Given the description of an element on the screen output the (x, y) to click on. 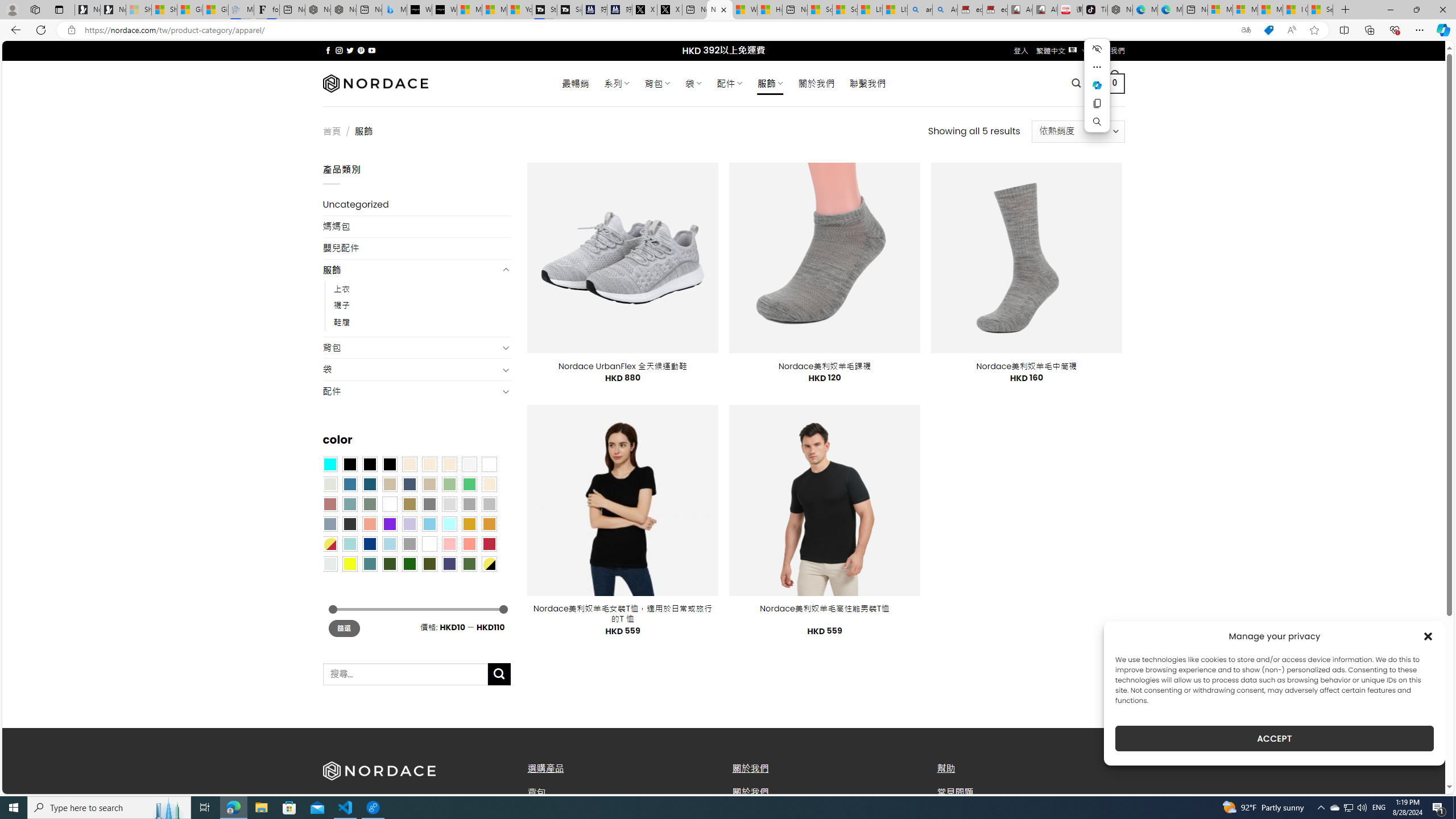
amazon - Search (919, 9)
Nordace (374, 83)
Search (1096, 122)
Amazon Echo Dot PNG - Search Images (944, 9)
App bar (728, 29)
